Given the description of an element on the screen output the (x, y) to click on. 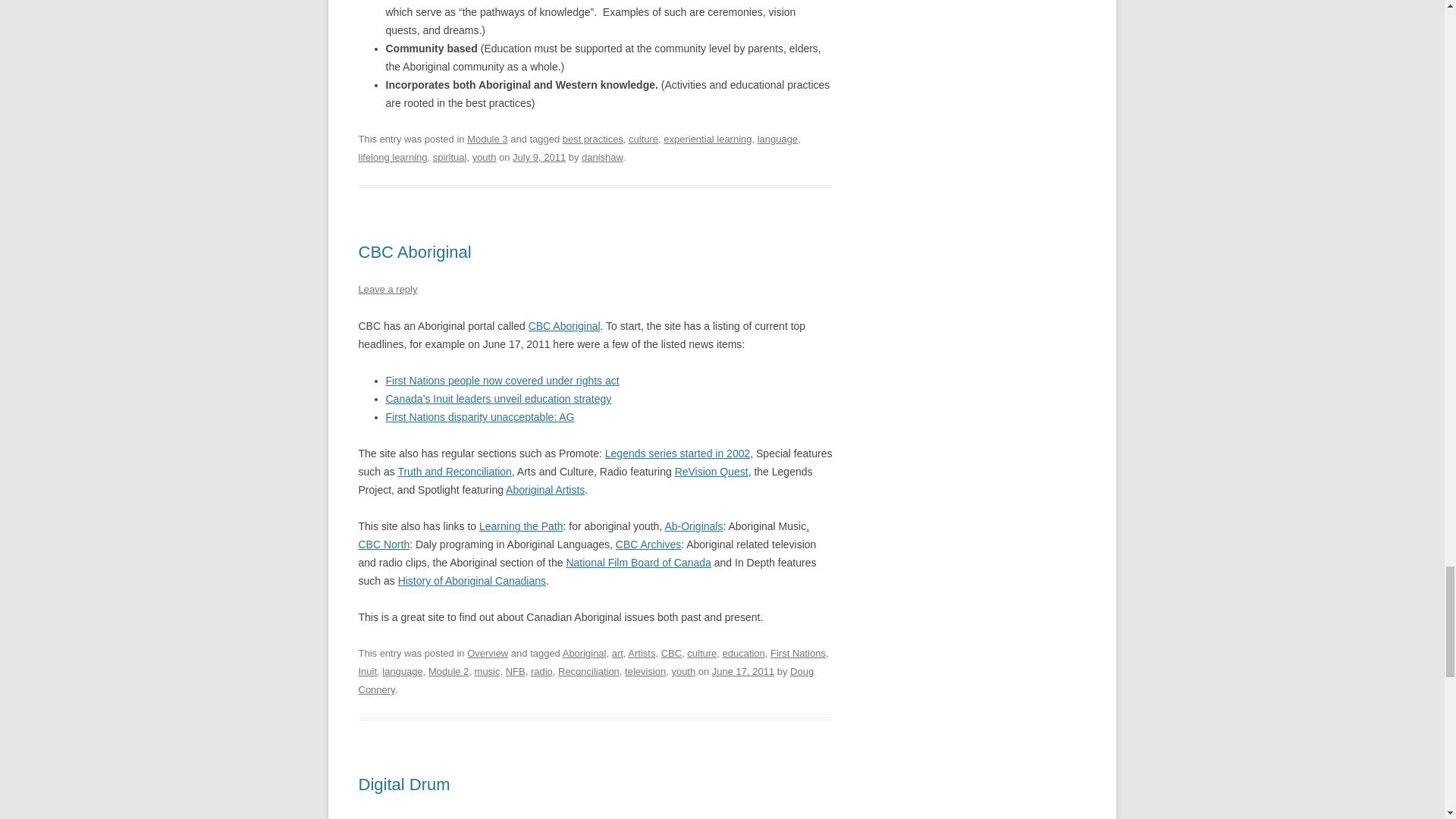
3:31 am (539, 156)
